Given the description of an element on the screen output the (x, y) to click on. 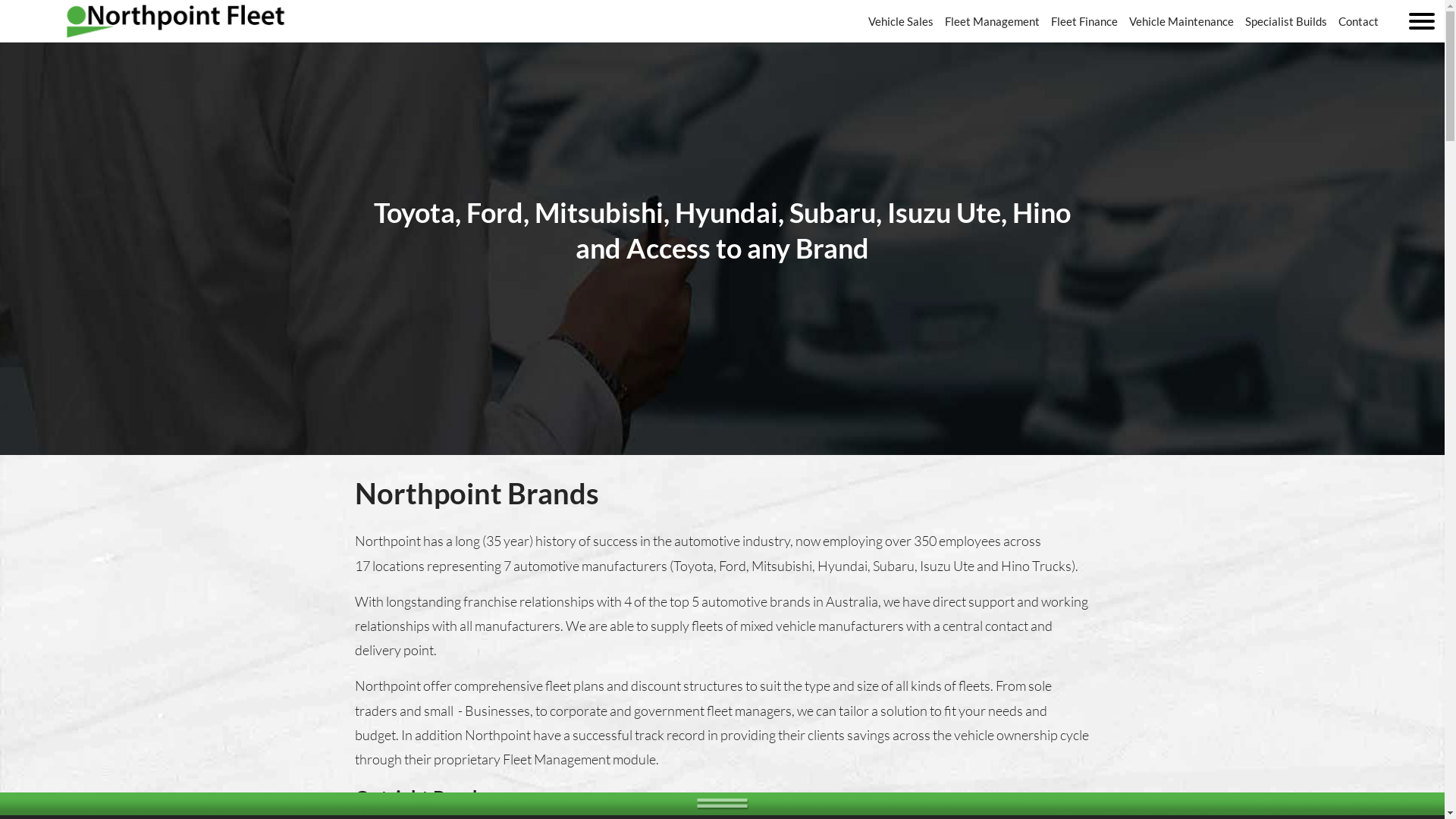
Fleet Management Element type: text (991, 21)
Vehicle Sales Element type: text (900, 21)
Specialist Builds Element type: text (1286, 21)
Fleet Finance Element type: text (1084, 21)
Contact Element type: text (1358, 21)
Vehicle Maintenance Element type: text (1181, 21)
